Given the description of an element on the screen output the (x, y) to click on. 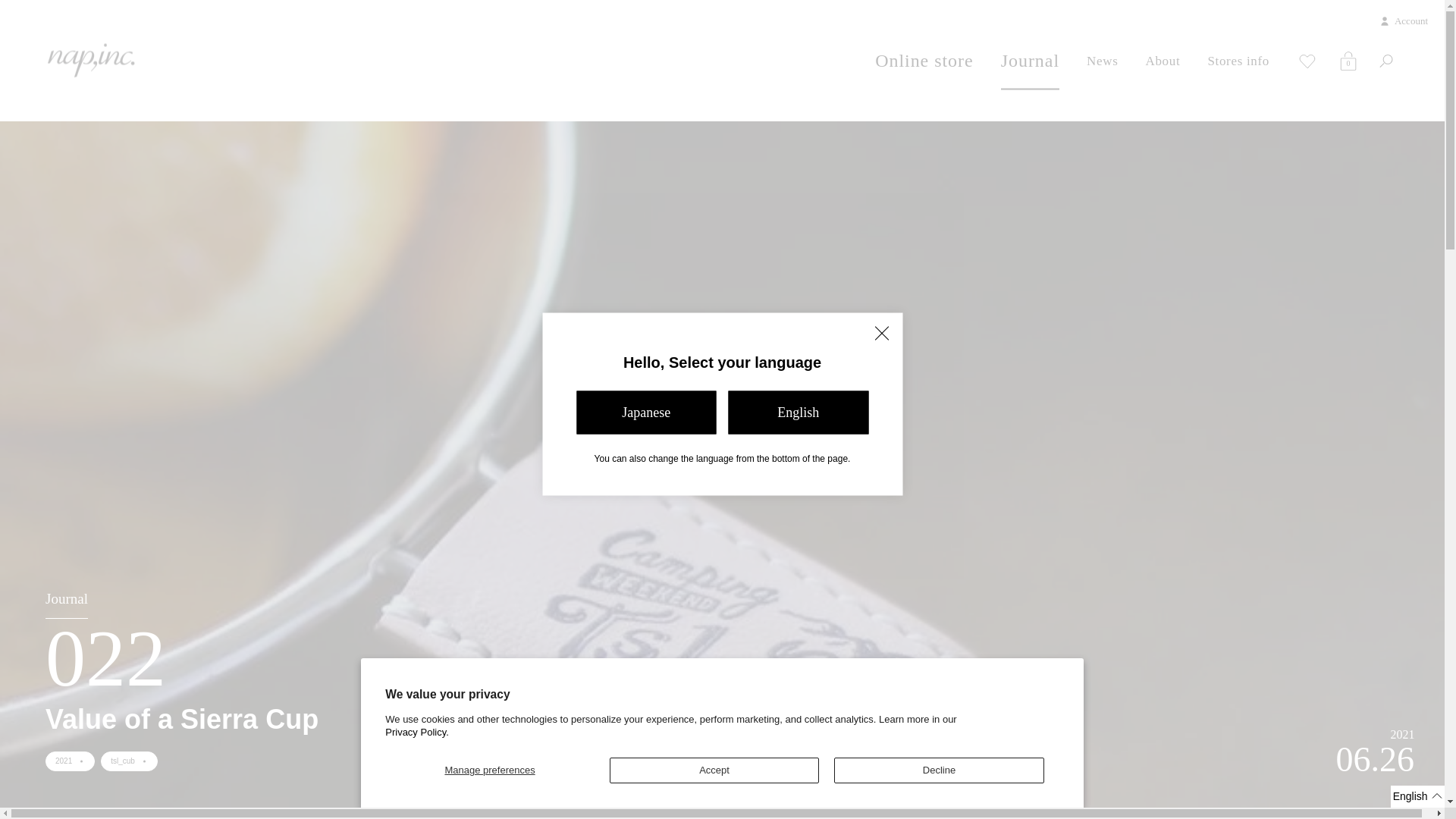
SEARCH (1366, 117)
News (1102, 60)
nap,Inc. (1347, 60)
SEARCH (91, 60)
Accept (1385, 60)
About (714, 769)
Journal (1161, 60)
Stores info (1030, 60)
Online store (1238, 60)
Decline (924, 60)
Privacy Policy. (938, 769)
Manage preferences (722, 732)
Cart (489, 769)
Account (1347, 60)
